Given the description of an element on the screen output the (x, y) to click on. 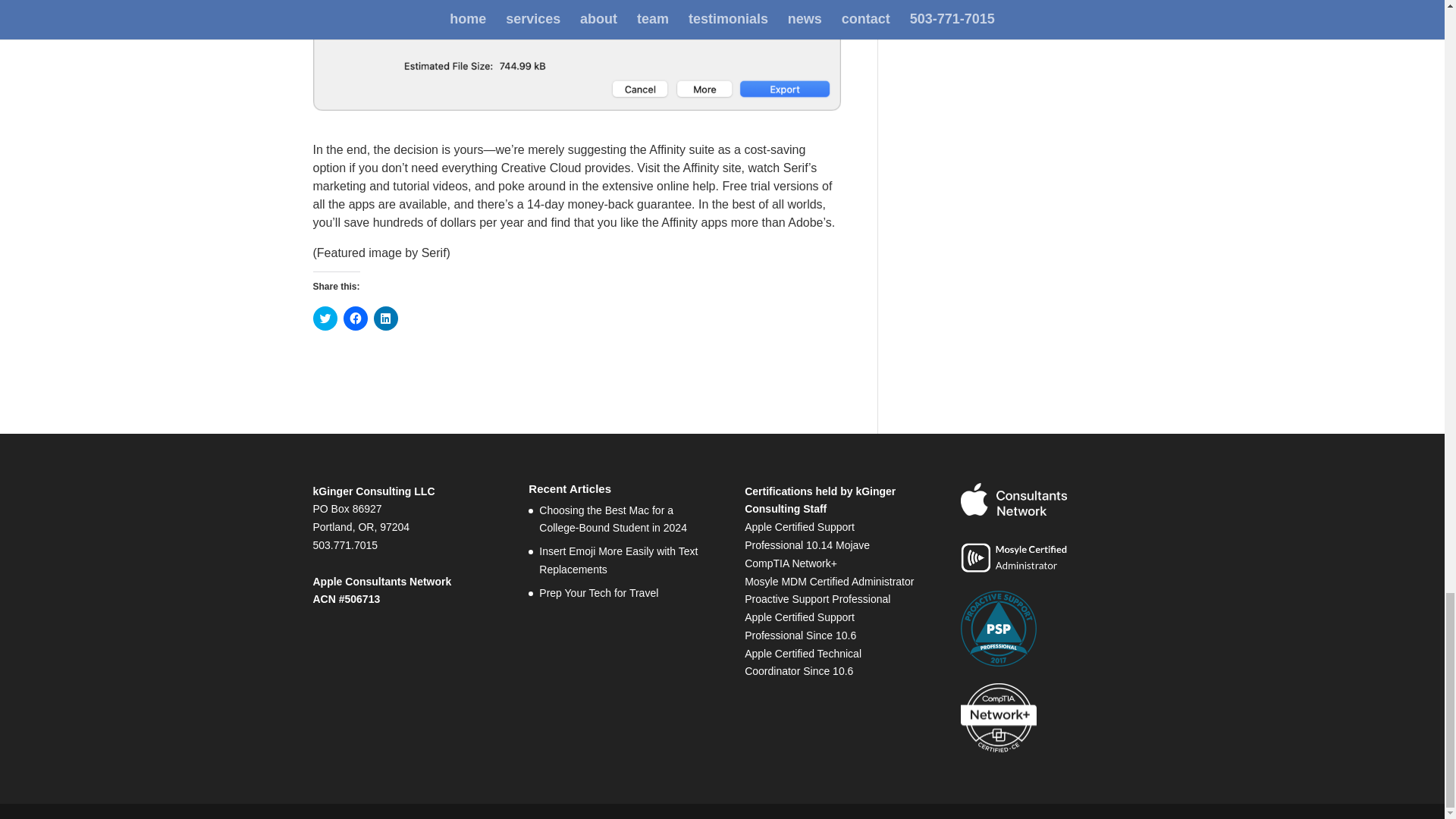
Click to share on Facebook (354, 318)
Click to share on Twitter (324, 318)
Click to share on LinkedIn (384, 318)
